Given the description of an element on the screen output the (x, y) to click on. 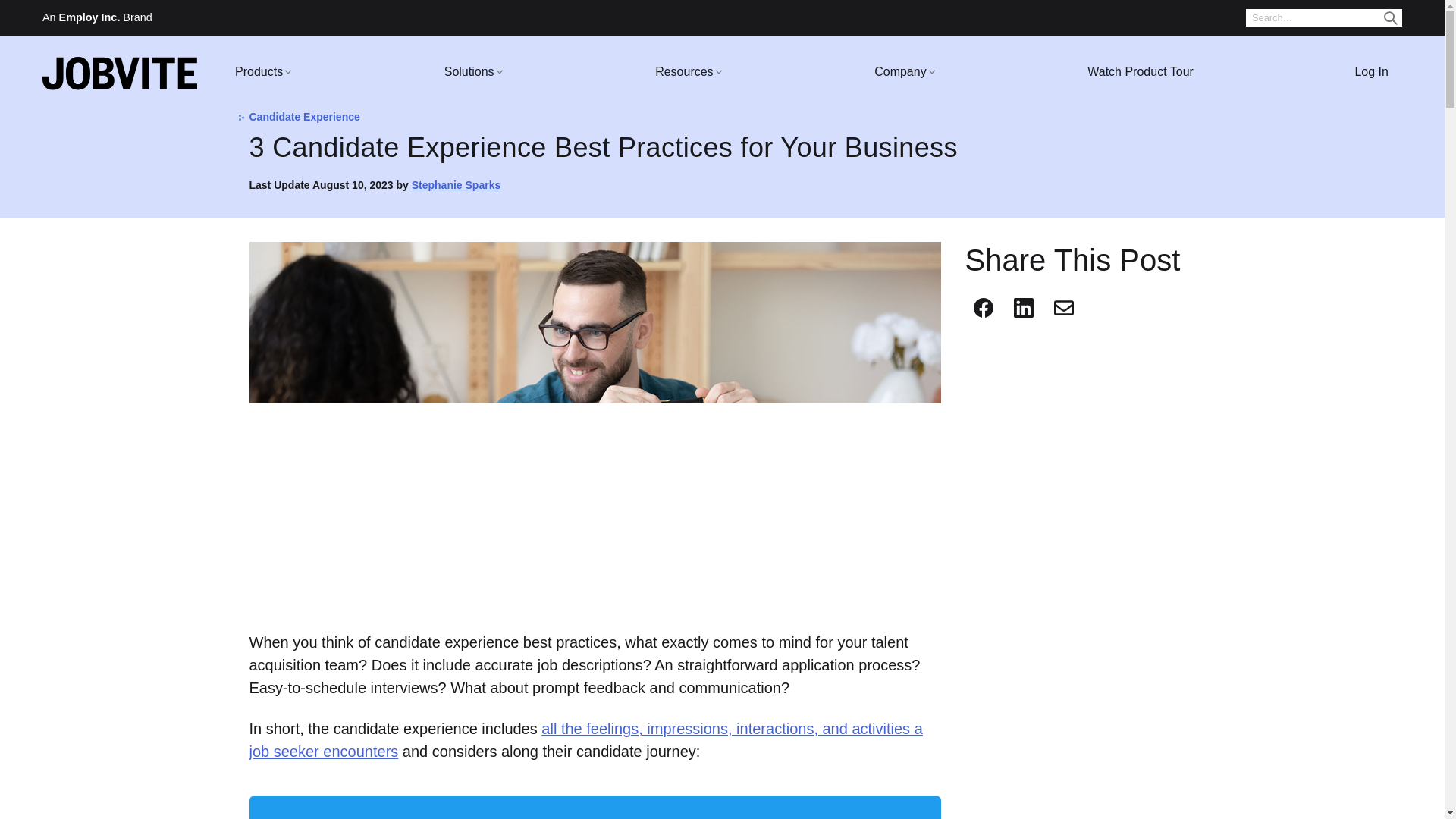
Share on Facebook (983, 307)
Solutions (469, 72)
Share via Email (1063, 308)
Share on LinkedIn (1022, 307)
Search for (1324, 17)
Share via Email (1064, 307)
Share on Facebook (982, 308)
Products (259, 72)
Share on LinkedIn (1024, 308)
